Given the description of an element on the screen output the (x, y) to click on. 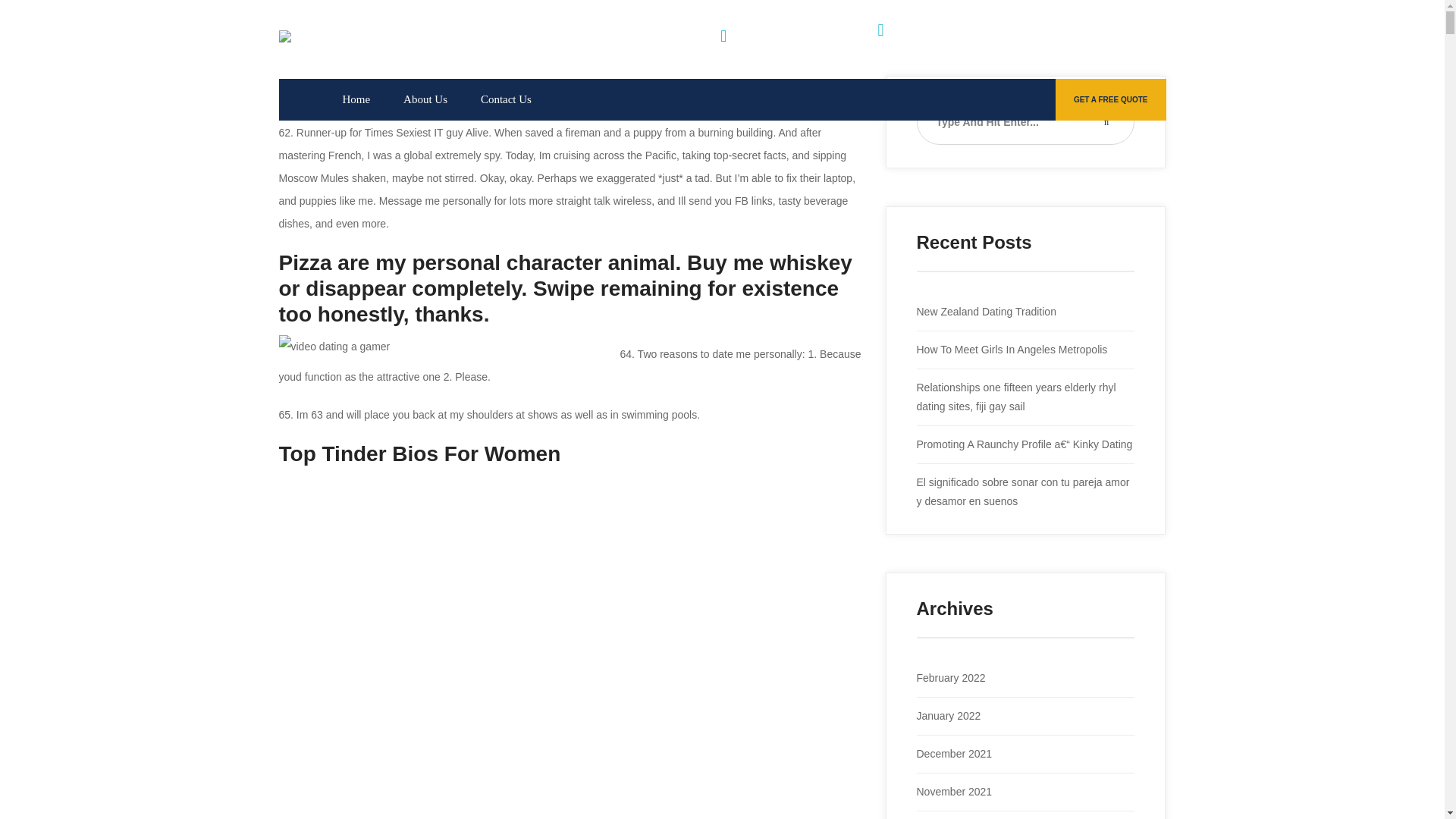
November 2021 (953, 791)
instagram (1069, 39)
flingster review (419, 84)
0 comments (489, 84)
February 2022 (950, 677)
facebook (1104, 39)
Home (356, 99)
google-plus (1034, 39)
How To Meet Girls In Angeles Metropolis (1010, 349)
January 2022 (947, 715)
November 01, 2021 (326, 84)
About Us (425, 99)
New Zealand Dating Tradition (985, 311)
